Given the description of an element on the screen output the (x, y) to click on. 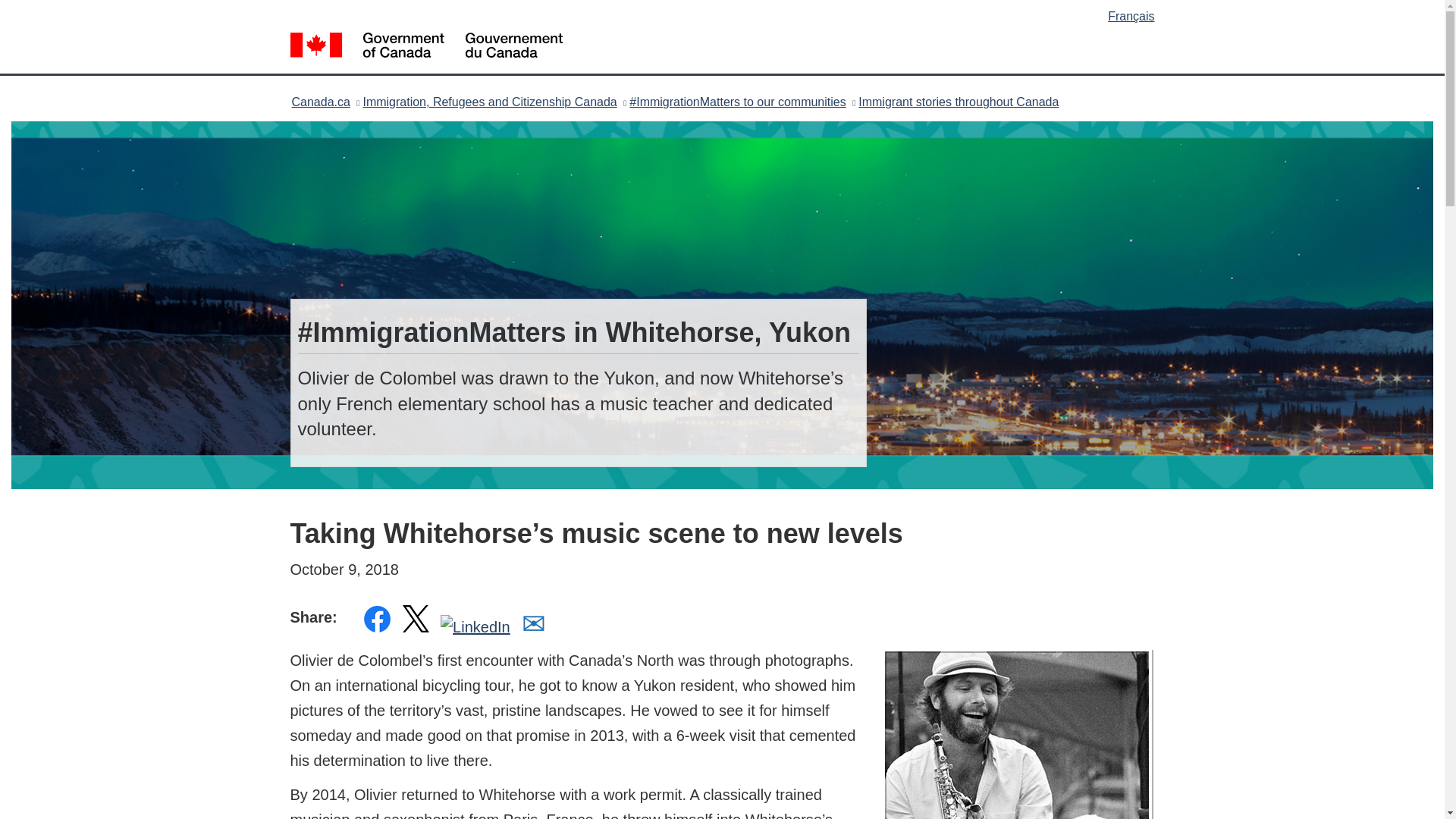
Canada.ca (320, 101)
Immigrant stories throughout Canada (958, 101)
Immigration, Refugees and Citizenship Canada (488, 101)
Skip to main content (725, 11)
